Given the description of an element on the screen output the (x, y) to click on. 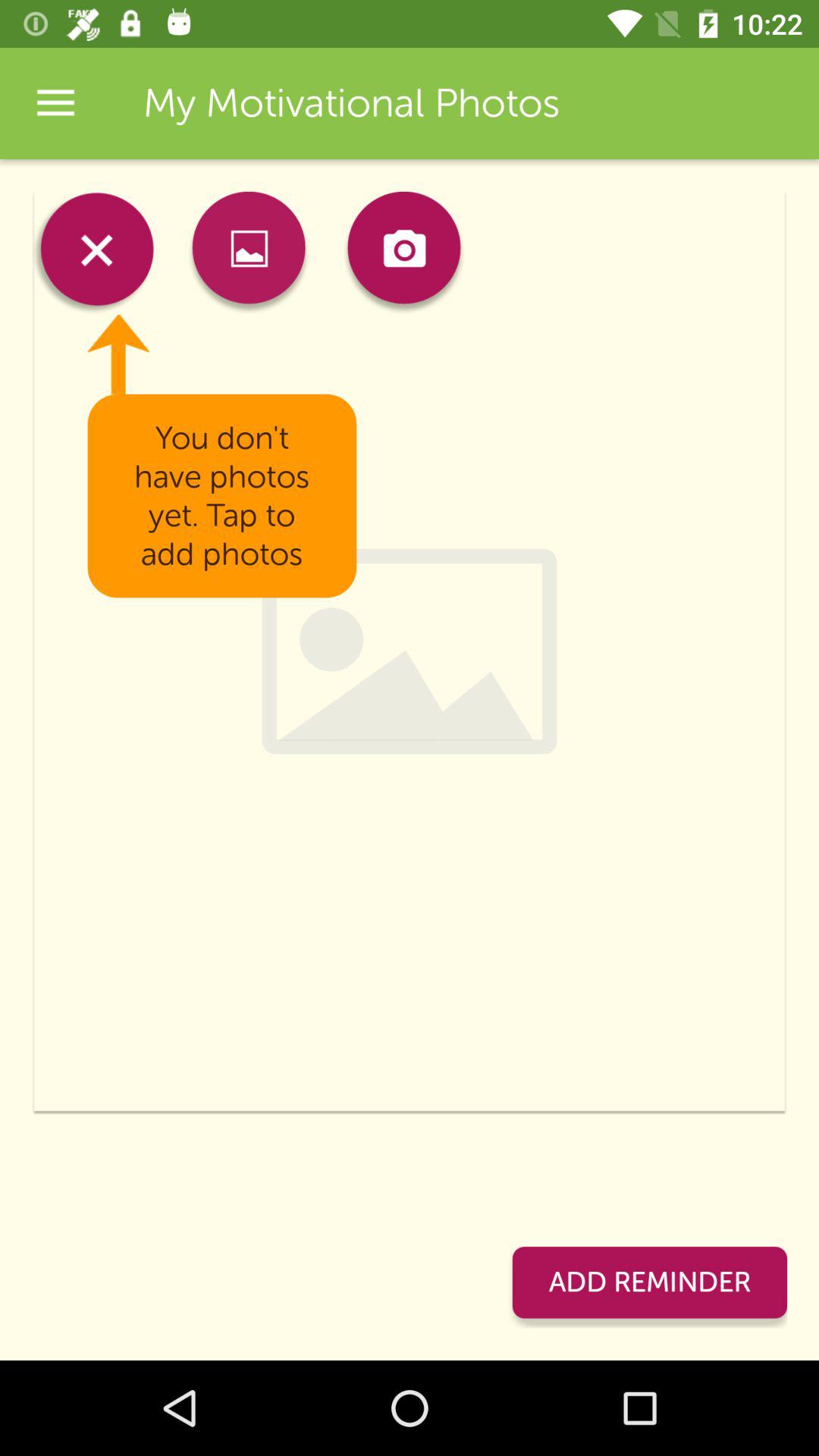
select app below my motivational photos (248, 252)
